Given the description of an element on the screen output the (x, y) to click on. 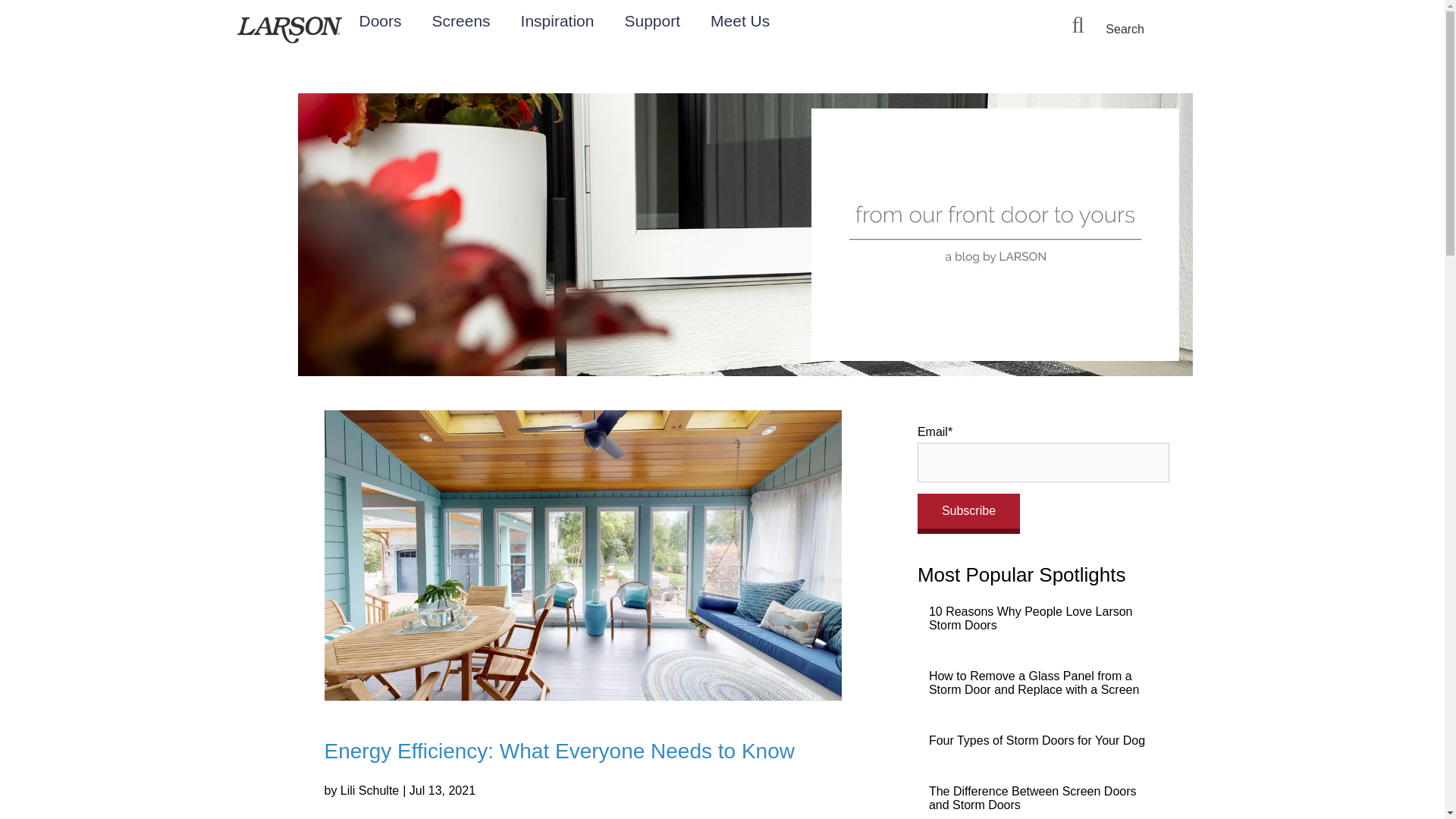
Support (651, 20)
Screens (460, 20)
Doors (379, 20)
Subscribe (968, 513)
Inspiration (557, 20)
